Given the description of an element on the screen output the (x, y) to click on. 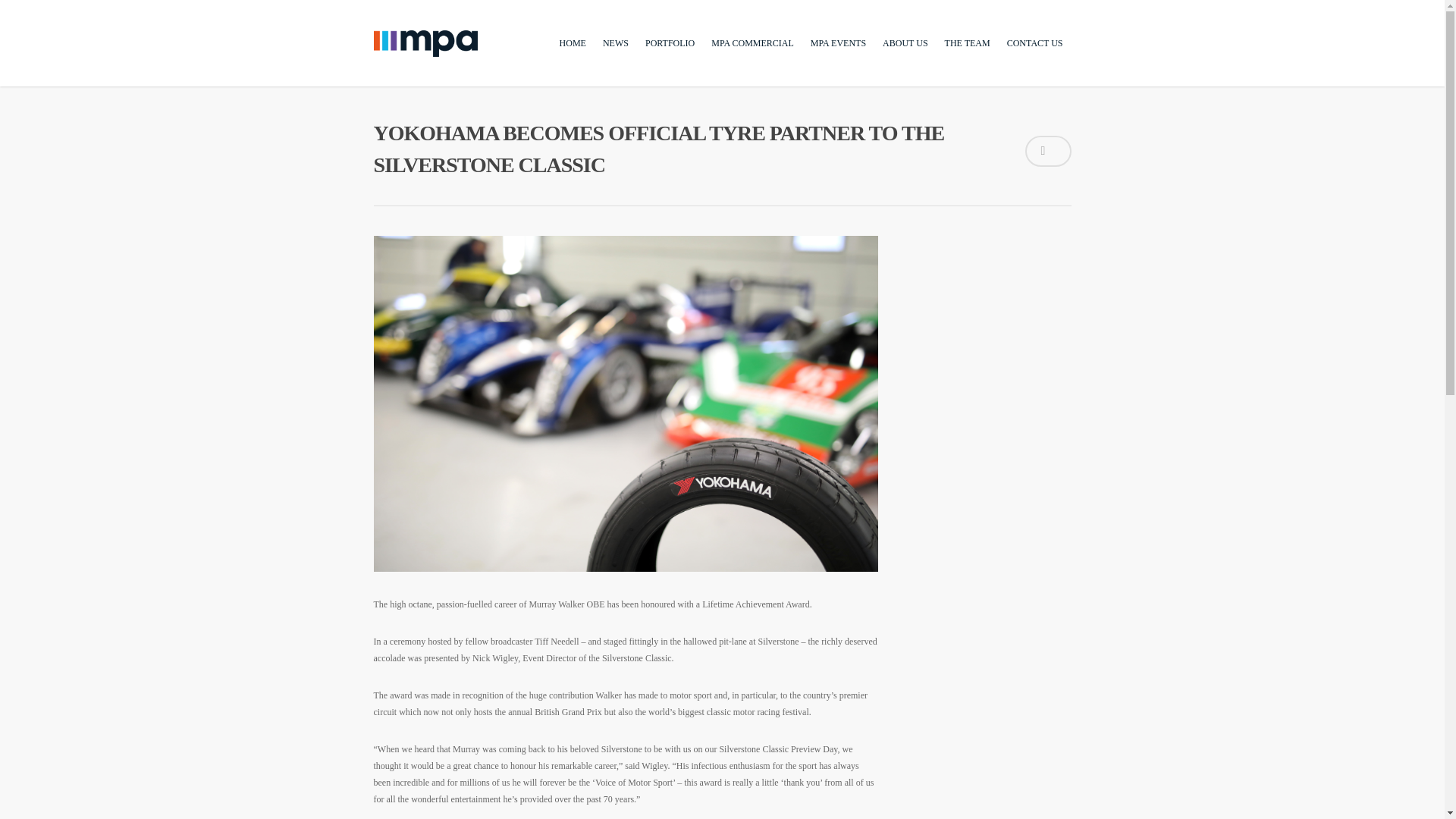
THE TEAM (967, 58)
PORTFOLIO (669, 58)
CONTACT US (1034, 58)
MPA COMMERCIAL (752, 58)
MPA EVENTS (838, 58)
ABOUT US (904, 58)
